Given the description of an element on the screen output the (x, y) to click on. 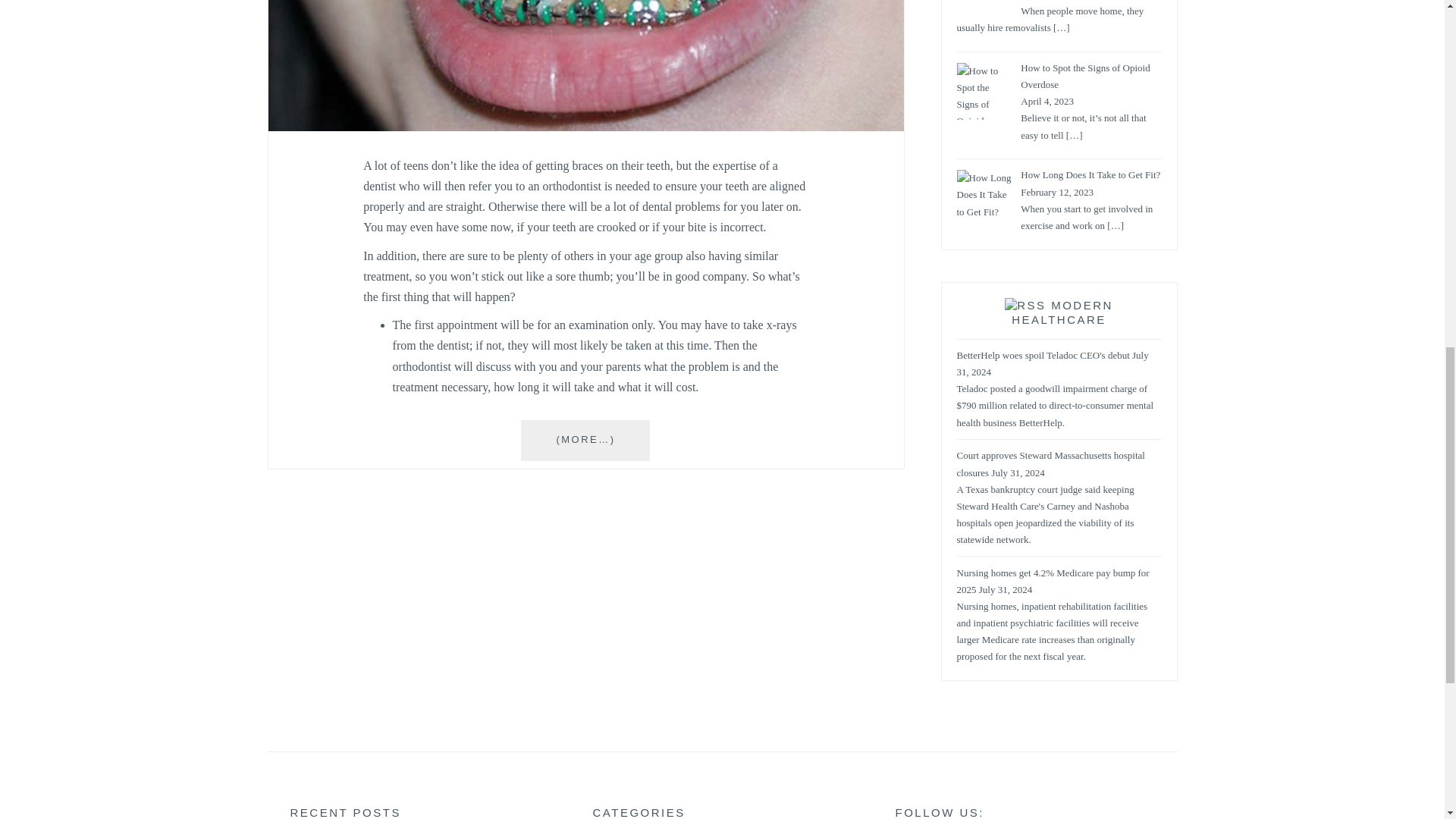
Court approves Steward Massachusetts hospital closures (1050, 464)
MODERN HEALTHCARE (1062, 313)
How to Spot the Signs of Opioid Overdose (1085, 76)
How Long Does It Take to Get Fit? (1090, 174)
orthodontist (422, 367)
dental problems (681, 206)
A Guide to Getting Braces (585, 126)
BetterHelp woes spoil Teladoc CEO's debut (1042, 355)
